Given the description of an element on the screen output the (x, y) to click on. 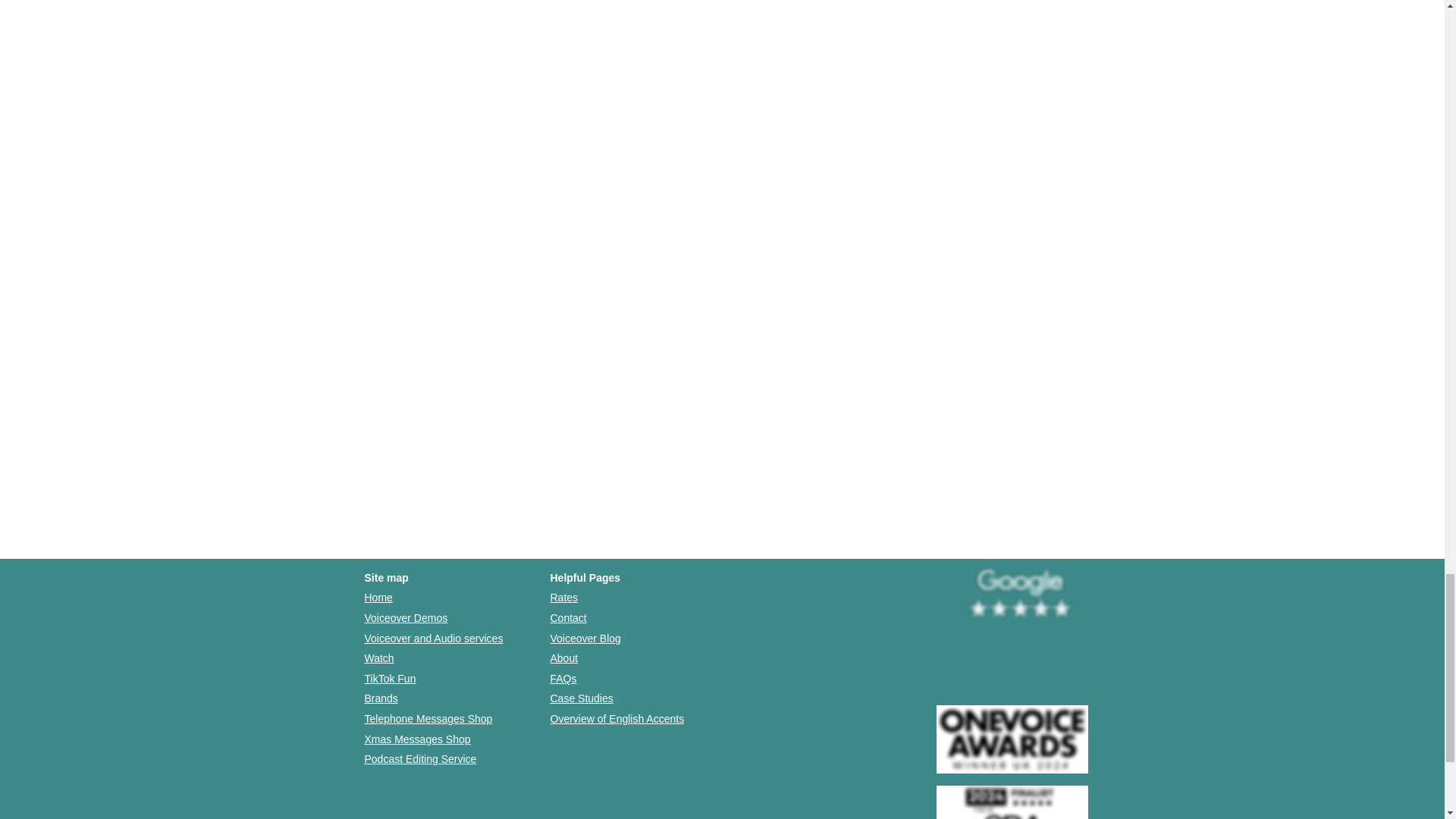
Voiceover Blog (585, 638)
Telephone Messages Shop (428, 718)
Rates (564, 597)
Voiceover Demos (405, 617)
Podcast Editing Service (420, 758)
Martn WhiskinVoiceover Aertist is rated 5 stars on Google (1018, 594)
FAQs (563, 678)
Case Studies (581, 698)
Watch (378, 657)
About (564, 657)
